Given the description of an element on the screen output the (x, y) to click on. 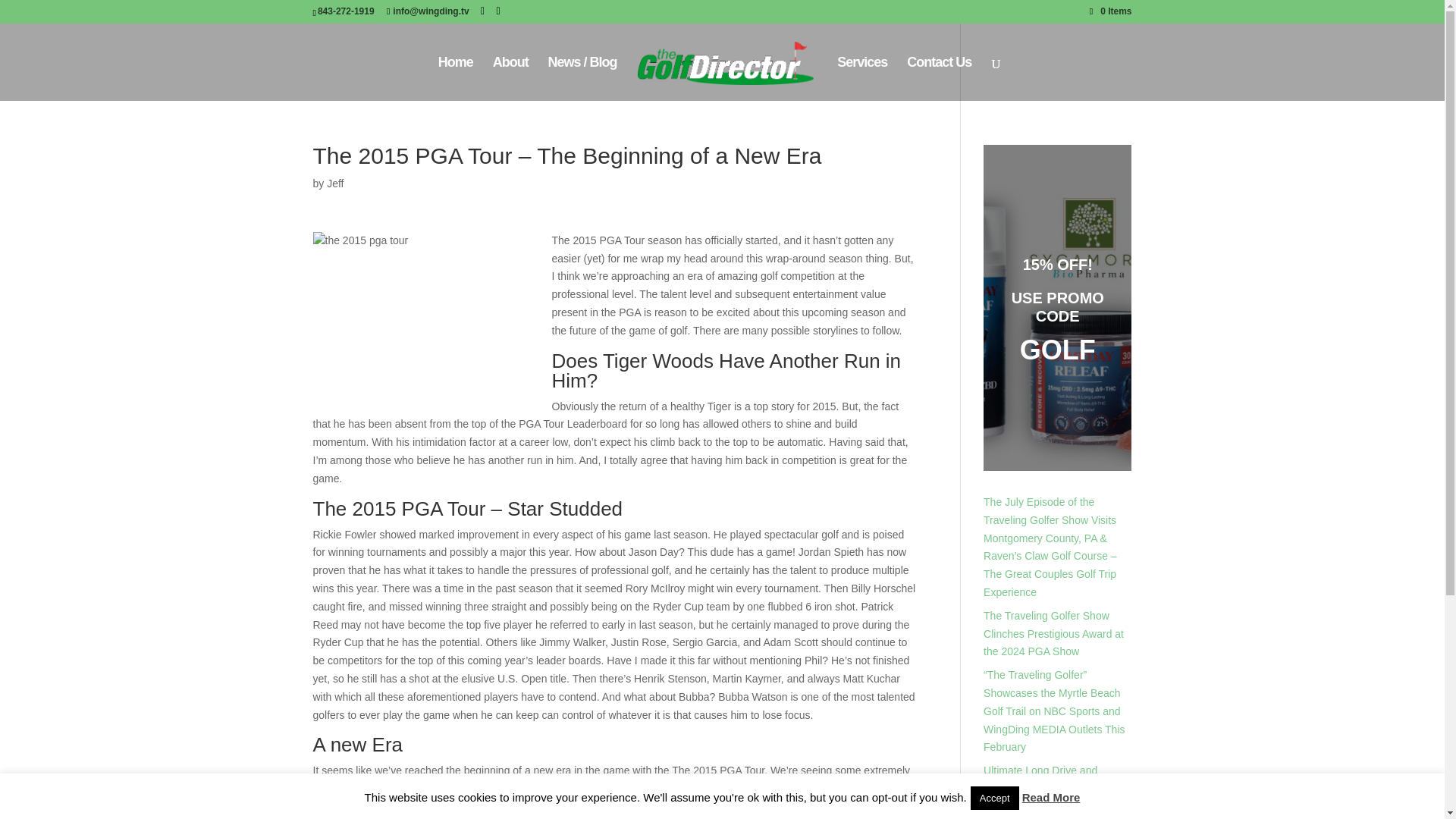
About The Golf Director (510, 78)
About (510, 78)
Accept (995, 797)
Contact The Golf Director (939, 78)
Contact Us (939, 78)
GOLF (1058, 349)
Services (861, 78)
Jeff (334, 183)
Posts by Jeff (334, 183)
0 Items (1110, 10)
Home (455, 78)
Read More (1051, 797)
